Given the description of an element on the screen output the (x, y) to click on. 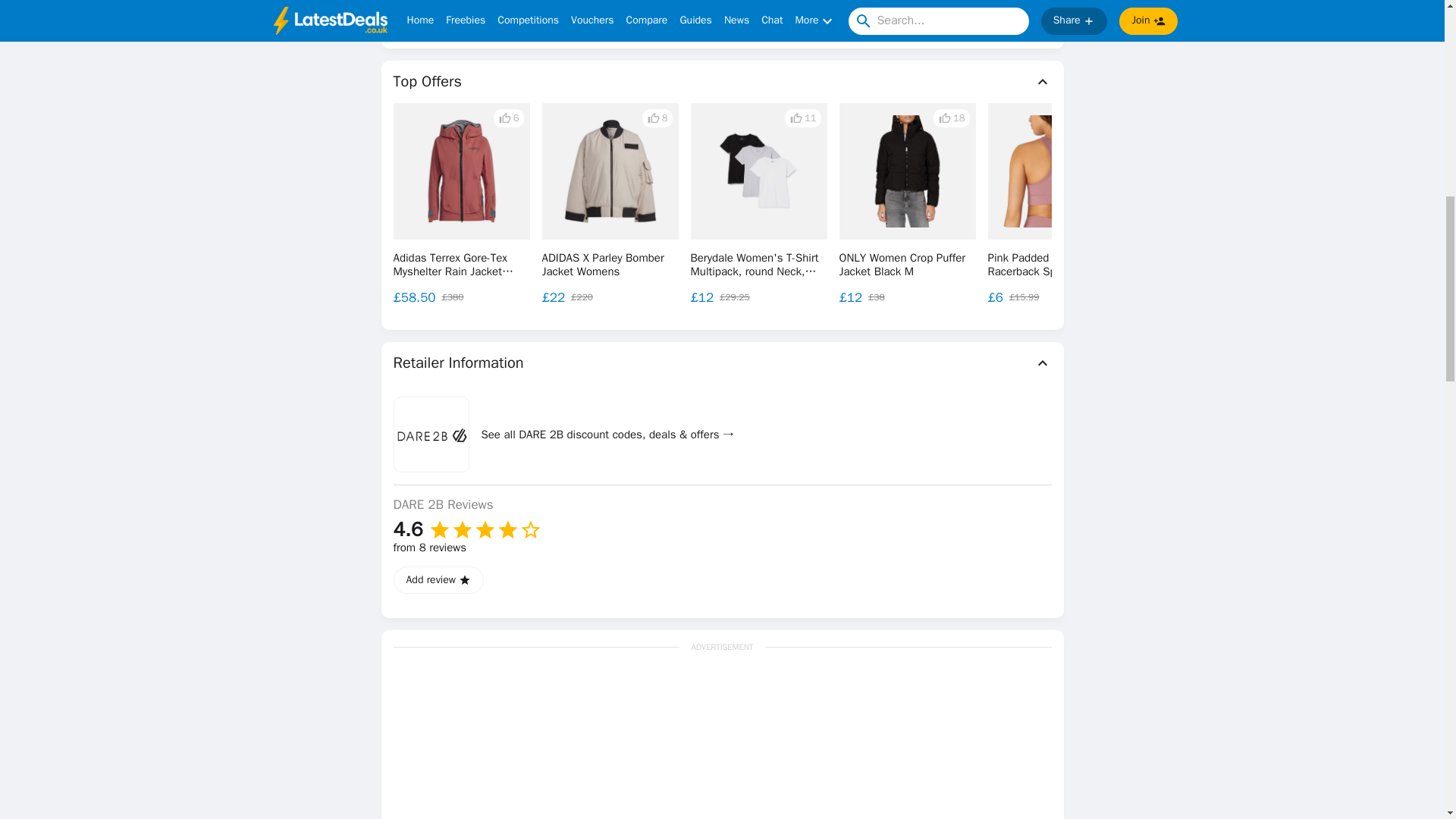
for women (573, 12)
Women (514, 12)
Jackets (463, 12)
Top Offers (722, 81)
womens (633, 12)
Jacket (413, 12)
